Given the description of an element on the screen output the (x, y) to click on. 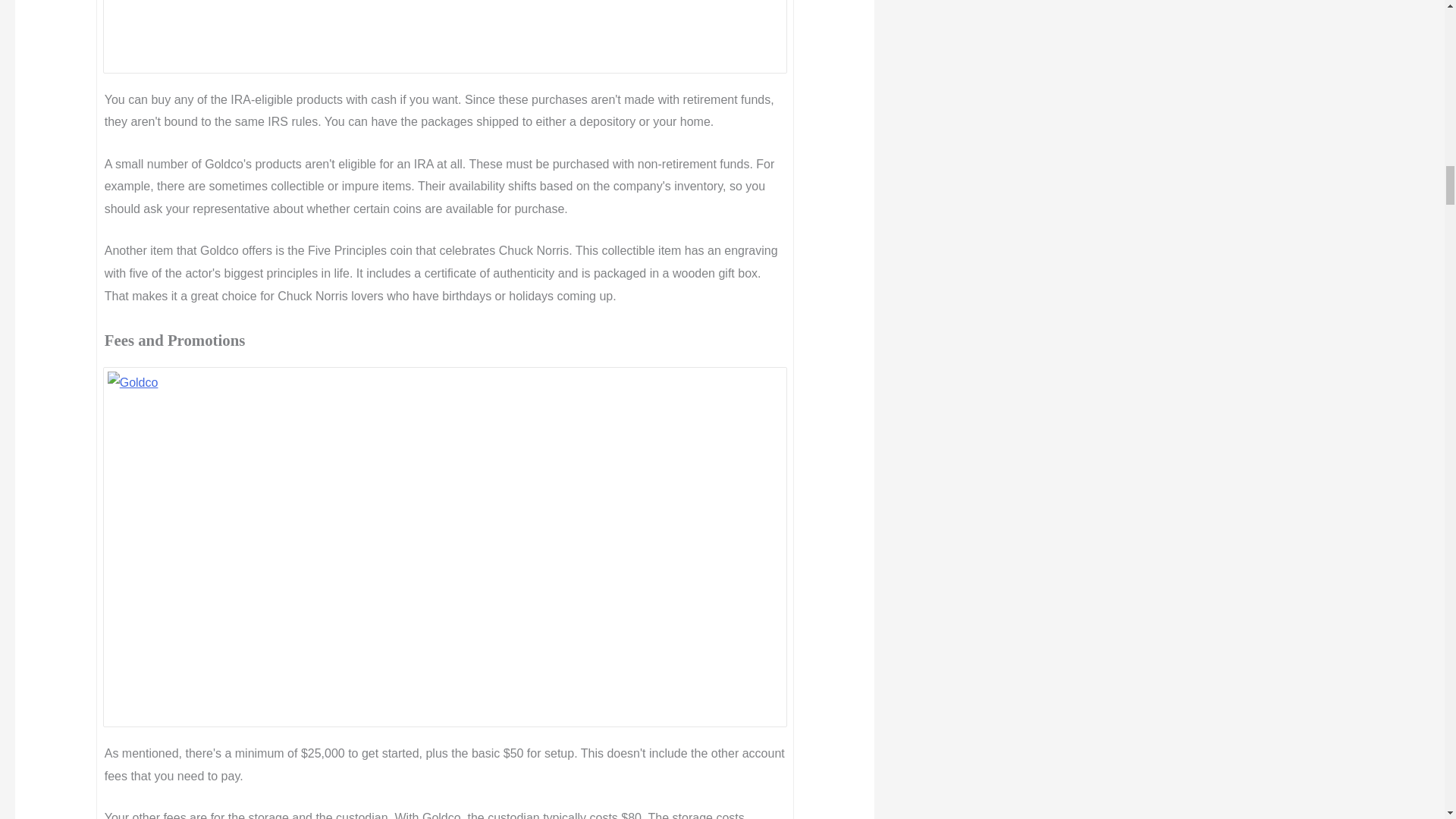
Goldco (445, 33)
